Given the description of an element on the screen output the (x, y) to click on. 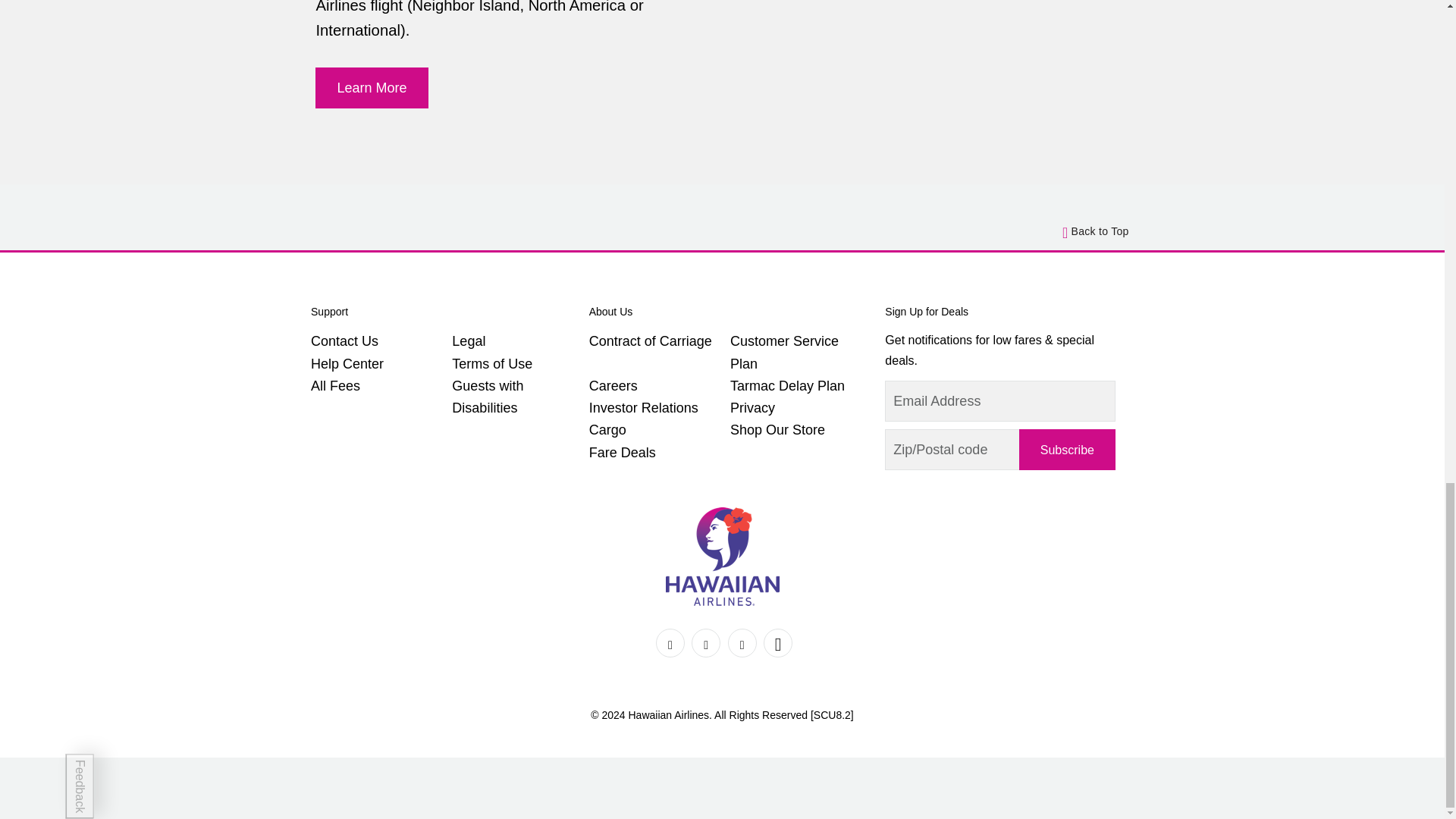
Investor Relations (643, 407)
Visit us on Facebook (670, 642)
Legal (467, 340)
Terms of Use (491, 363)
Visit us on Instagram (742, 642)
Guests with Disabilities (486, 396)
Tarmac Delay Plan (787, 385)
Learn More (371, 87)
Visit us on YouTube (777, 642)
Privacy (752, 407)
Contract of Carriage (650, 340)
Visit us on Twitter (705, 642)
Careers (613, 385)
Back to Top (1095, 230)
Contact Us (344, 340)
